Given the description of an element on the screen output the (x, y) to click on. 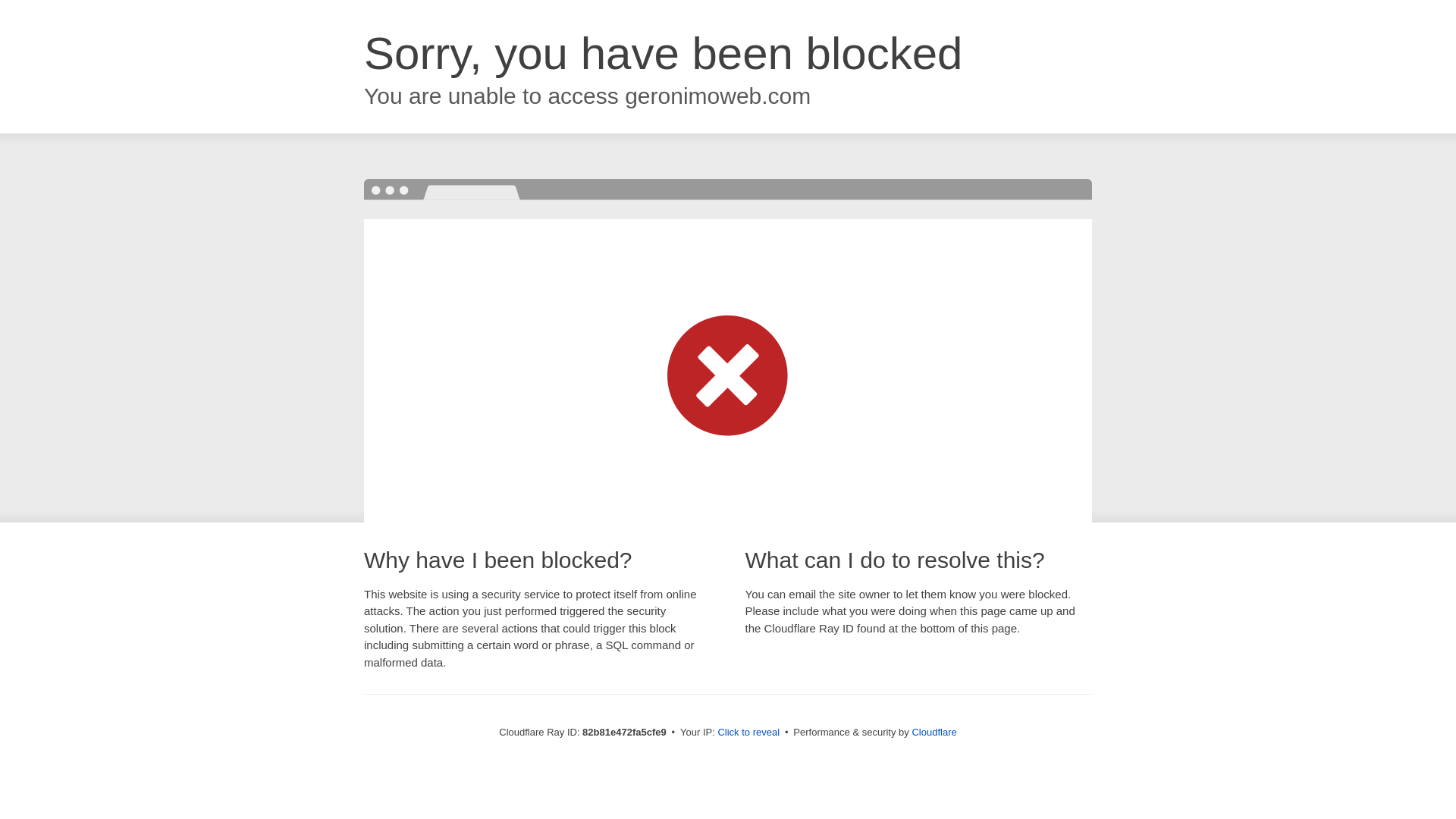
Click to reveal Element type: text (748, 732)
Cloudflare Element type: text (933, 731)
